Given the description of an element on the screen output the (x, y) to click on. 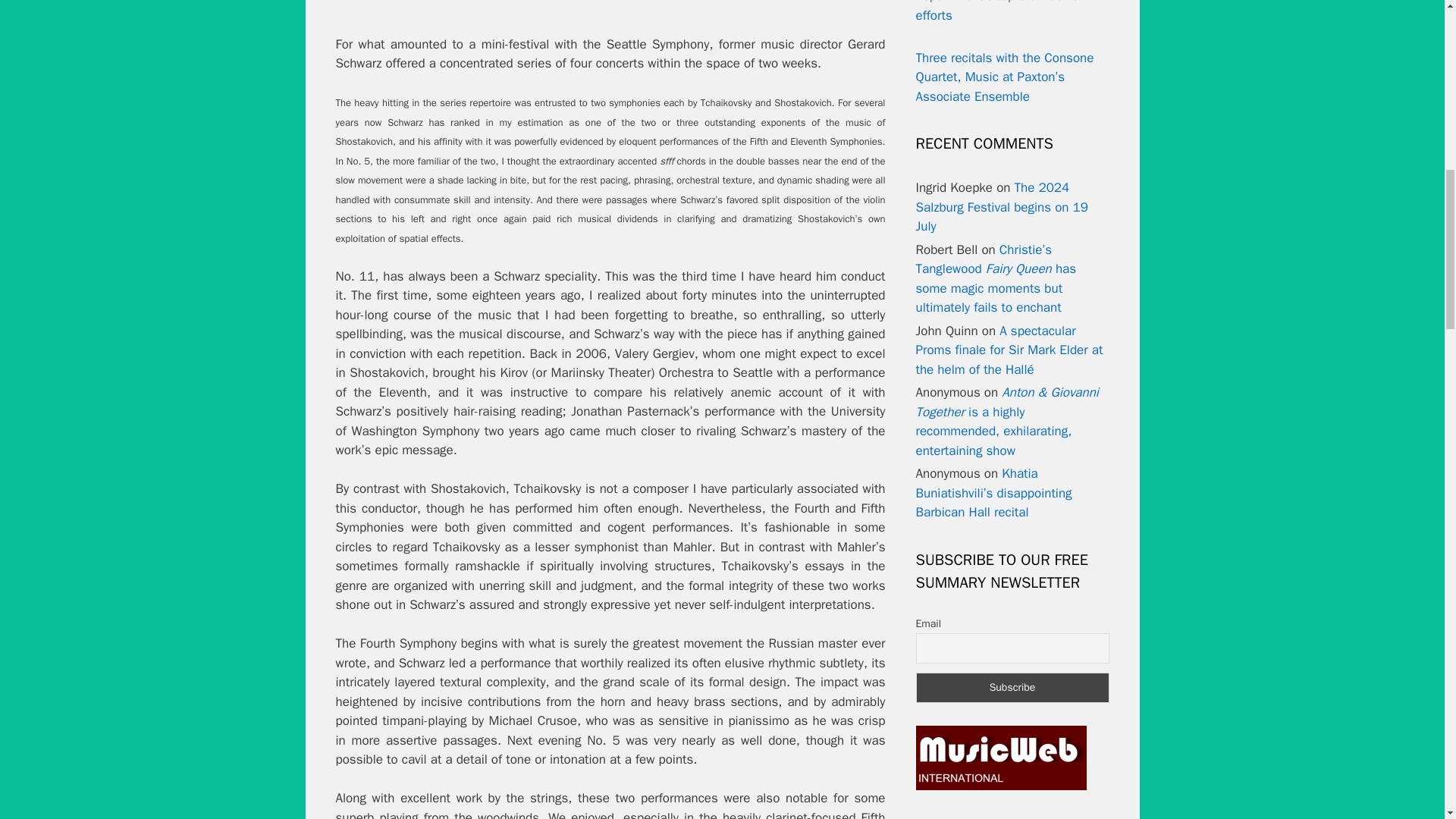
Subscribe (1012, 687)
